Given the description of an element on the screen output the (x, y) to click on. 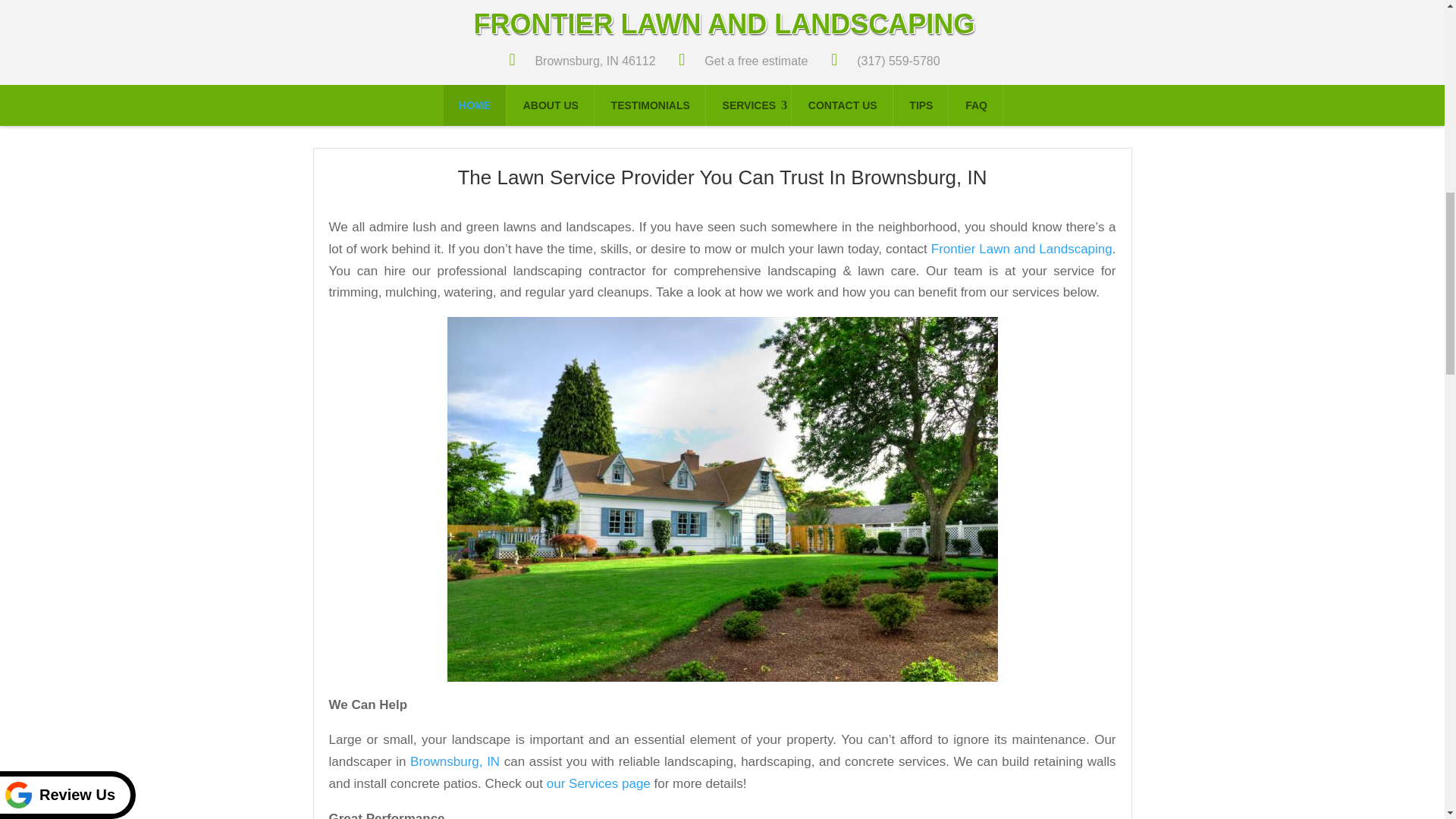
Brownsburg, IN (454, 761)
Frontier Lawn and Landscaping (1021, 248)
our Services page (598, 783)
Learn more about Frontier Landscaping and Lawn Service (1021, 248)
Read more about the services we offer (598, 783)
